Given the description of an element on the screen output the (x, y) to click on. 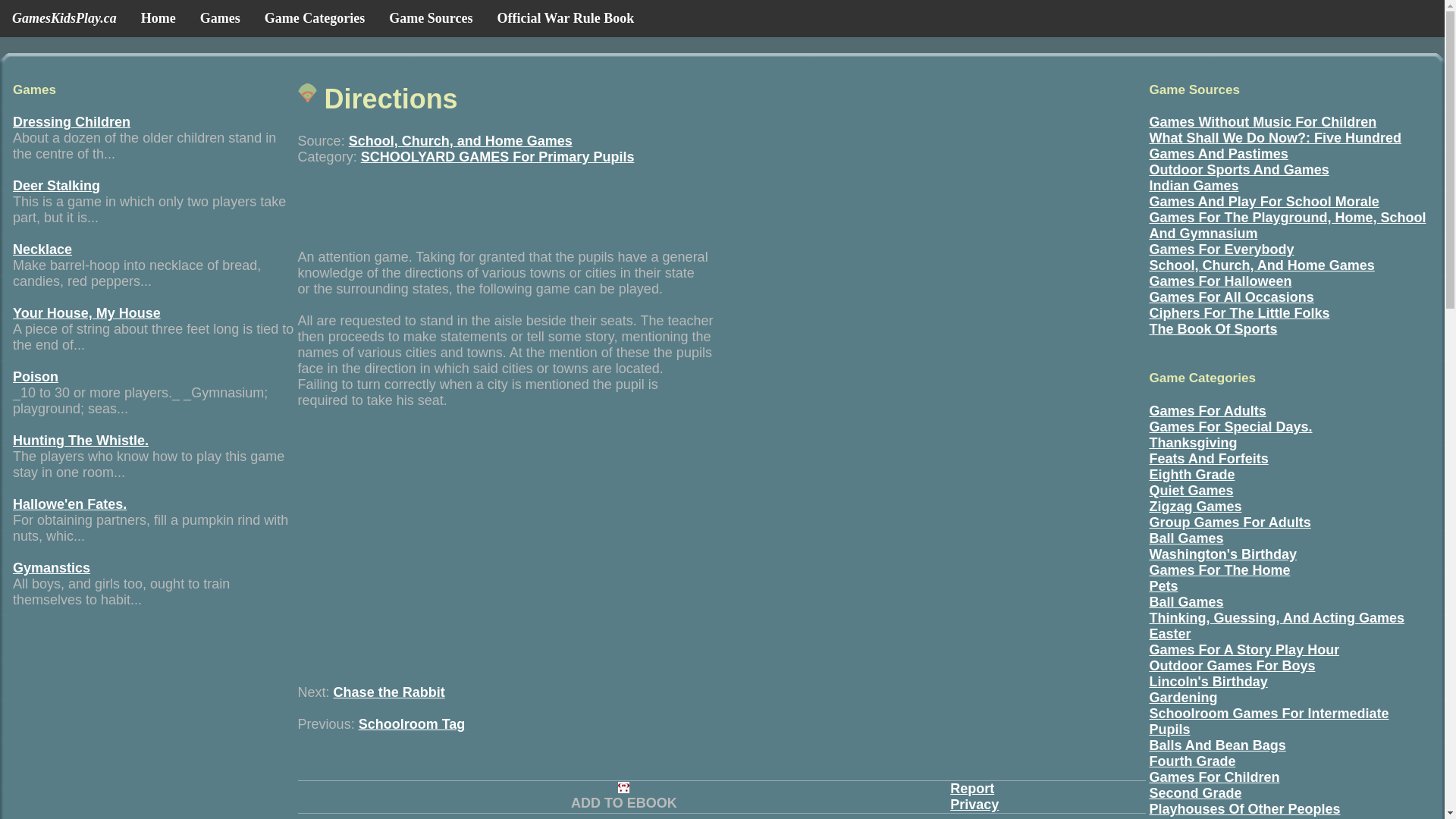
Eighth Grade (1191, 474)
Games And Play For School Morale (1263, 201)
Poison (35, 376)
Indian Games (1193, 185)
Your House, My House (86, 313)
School, Church, and Home Games (460, 140)
Games For All Occasions (1230, 296)
Report (972, 788)
Games (219, 18)
Ciphers For The Little Folks (1238, 313)
